Given the description of an element on the screen output the (x, y) to click on. 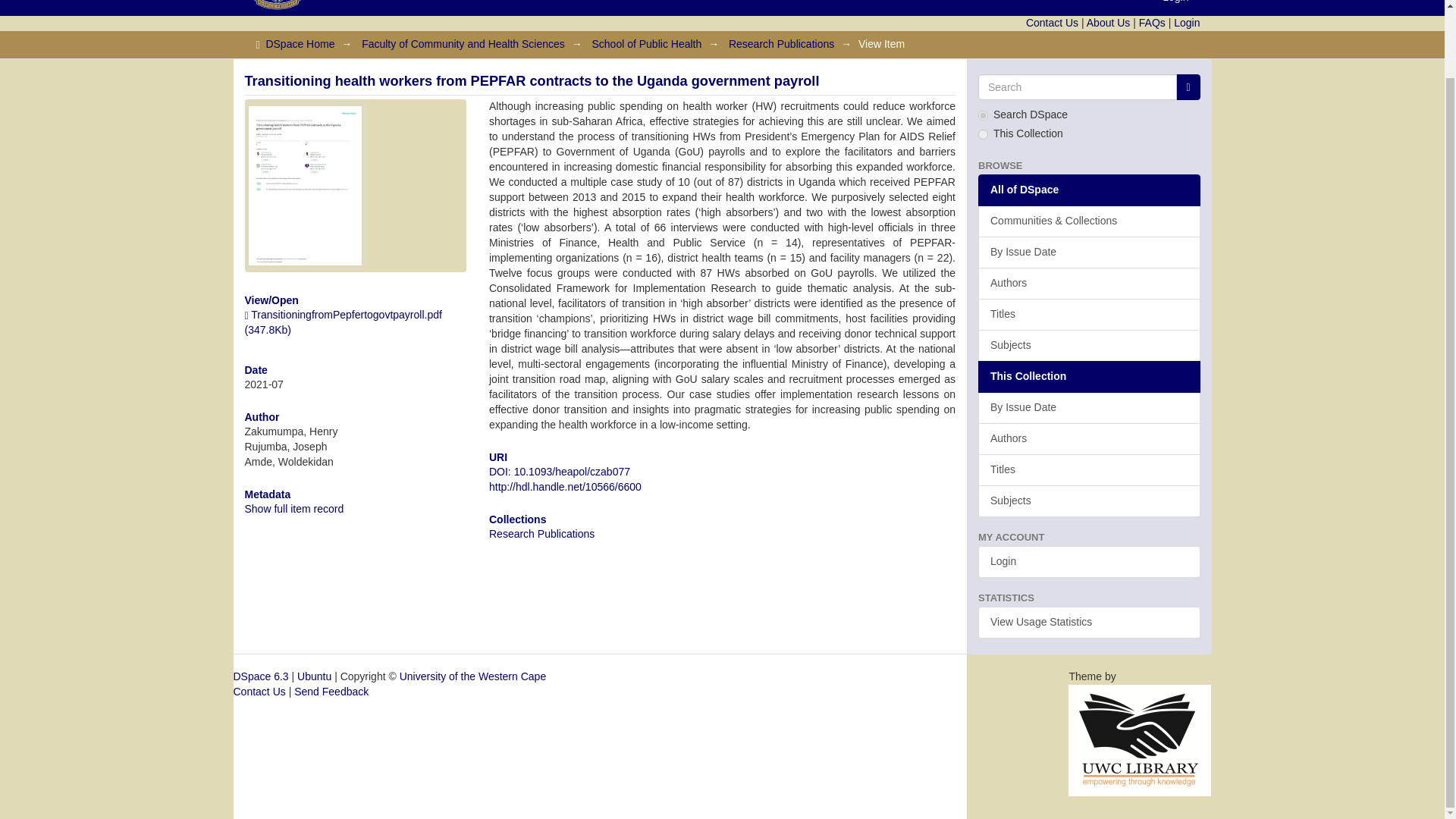
Go (1187, 86)
Faculty of Community and Health Sciences (462, 43)
Atmire NV (1139, 739)
DSpace Home (299, 43)
Research Publications (781, 43)
Login (1175, 7)
FAQs (1152, 22)
Contact Us (1052, 22)
Authors (1088, 283)
By Issue Date (1088, 252)
